Given the description of an element on the screen output the (x, y) to click on. 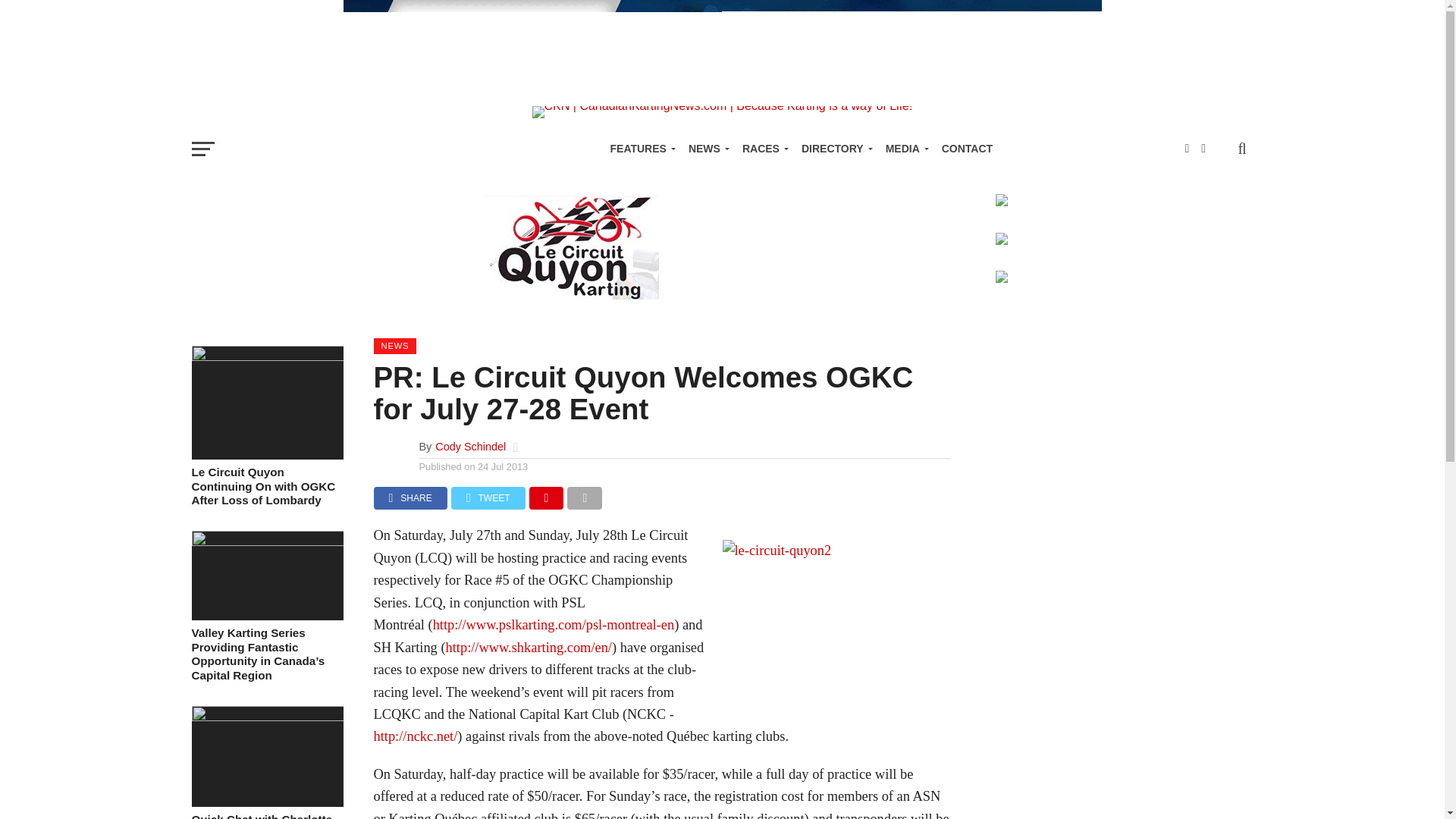
NEWS (706, 148)
Posts by Cody Schindel (470, 446)
FEATURES (638, 148)
Premier Karting (721, 86)
